Given the description of an element on the screen output the (x, y) to click on. 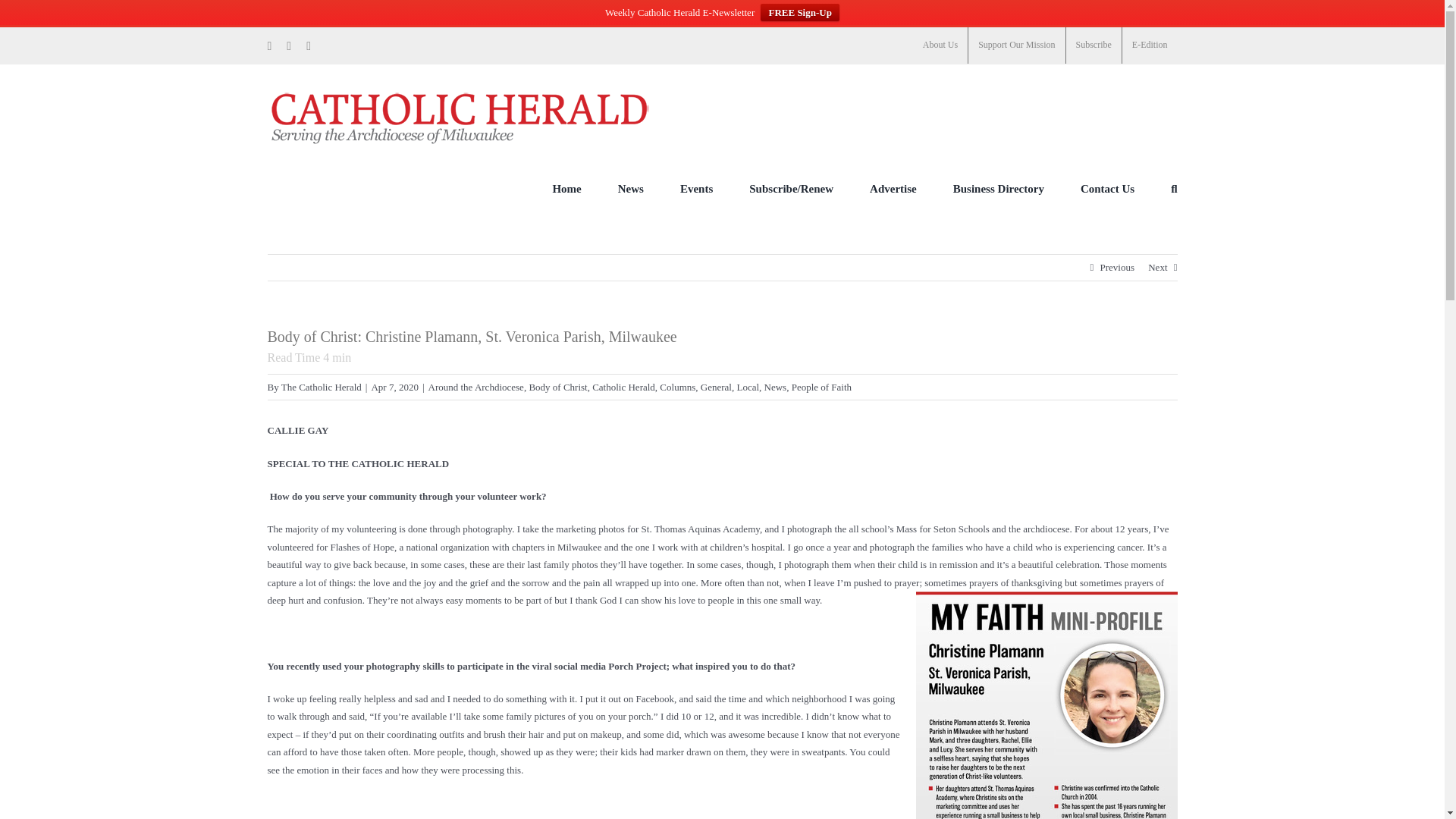
Business Directory (998, 188)
Contact Us (1107, 188)
FREE Sign-Up (799, 12)
Subscribe (1093, 45)
E-Edition (1149, 45)
About Us (940, 45)
Posts by The Catholic Herald (321, 387)
Support Our Mission (1016, 45)
Advertise (893, 188)
